Given the description of an element on the screen output the (x, y) to click on. 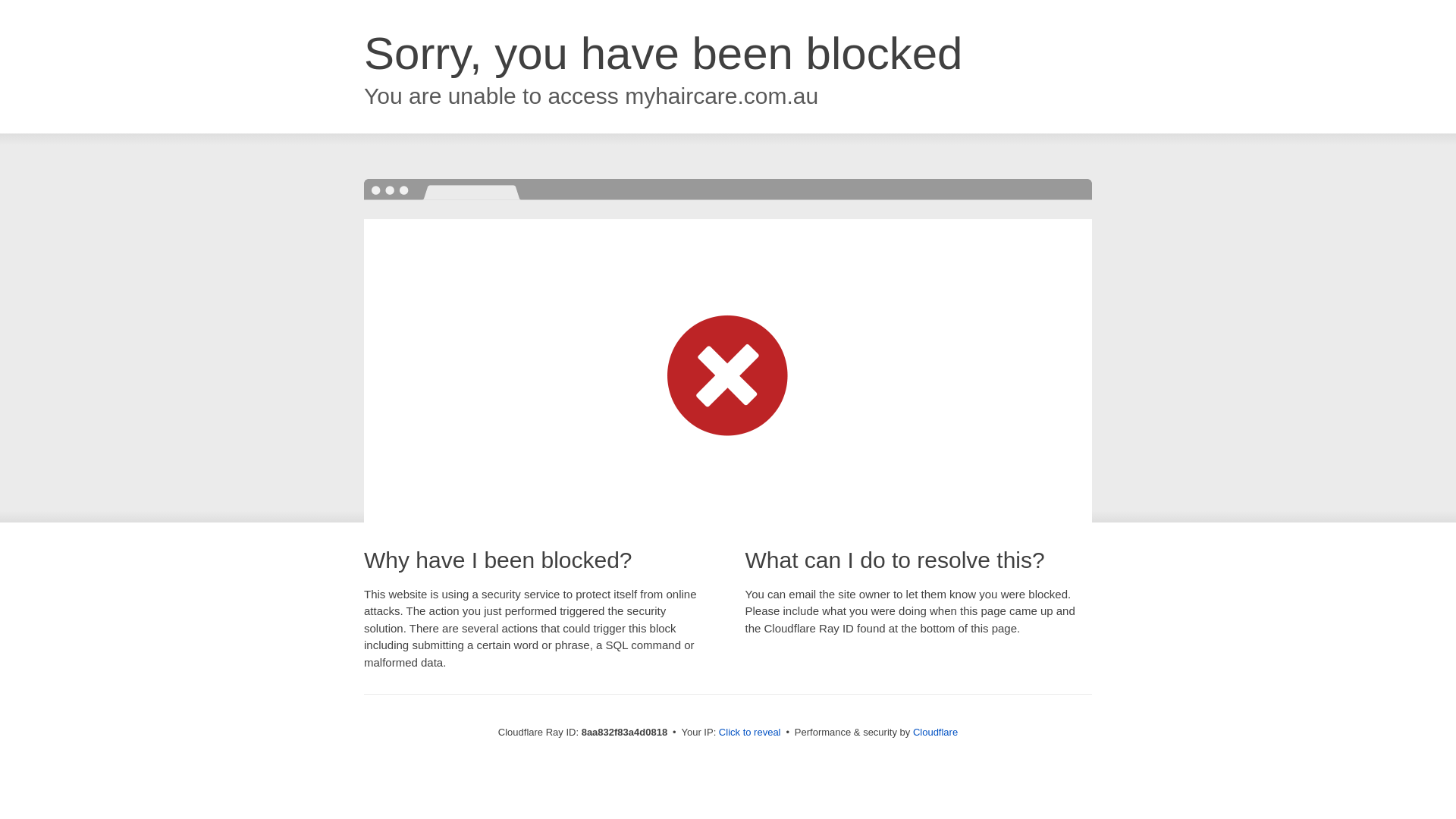
Cloudflare (935, 731)
Click to reveal (749, 732)
